Given the description of an element on the screen output the (x, y) to click on. 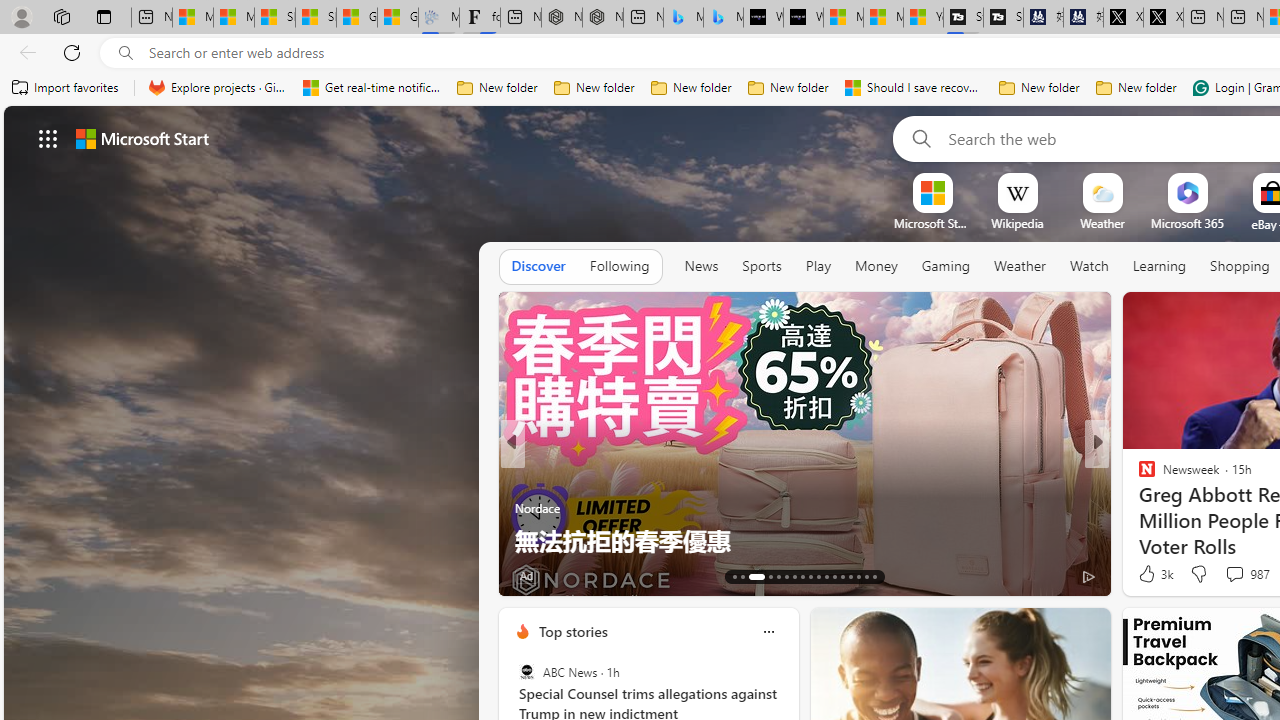
The Weather Channel (1138, 475)
New folder (1136, 88)
View comments 251 Comment (1247, 574)
Import favorites (65, 88)
This story is trending (449, 579)
202 Like (1151, 574)
Microsoft Bing Travel - Stays in Bangkok, Bangkok, Thailand (683, 17)
3k Like (1154, 574)
Shopping (1240, 265)
Housely (1138, 475)
CBS News (Video) (1138, 475)
View comments 1 Comment (1234, 574)
